Given the description of an element on the screen output the (x, y) to click on. 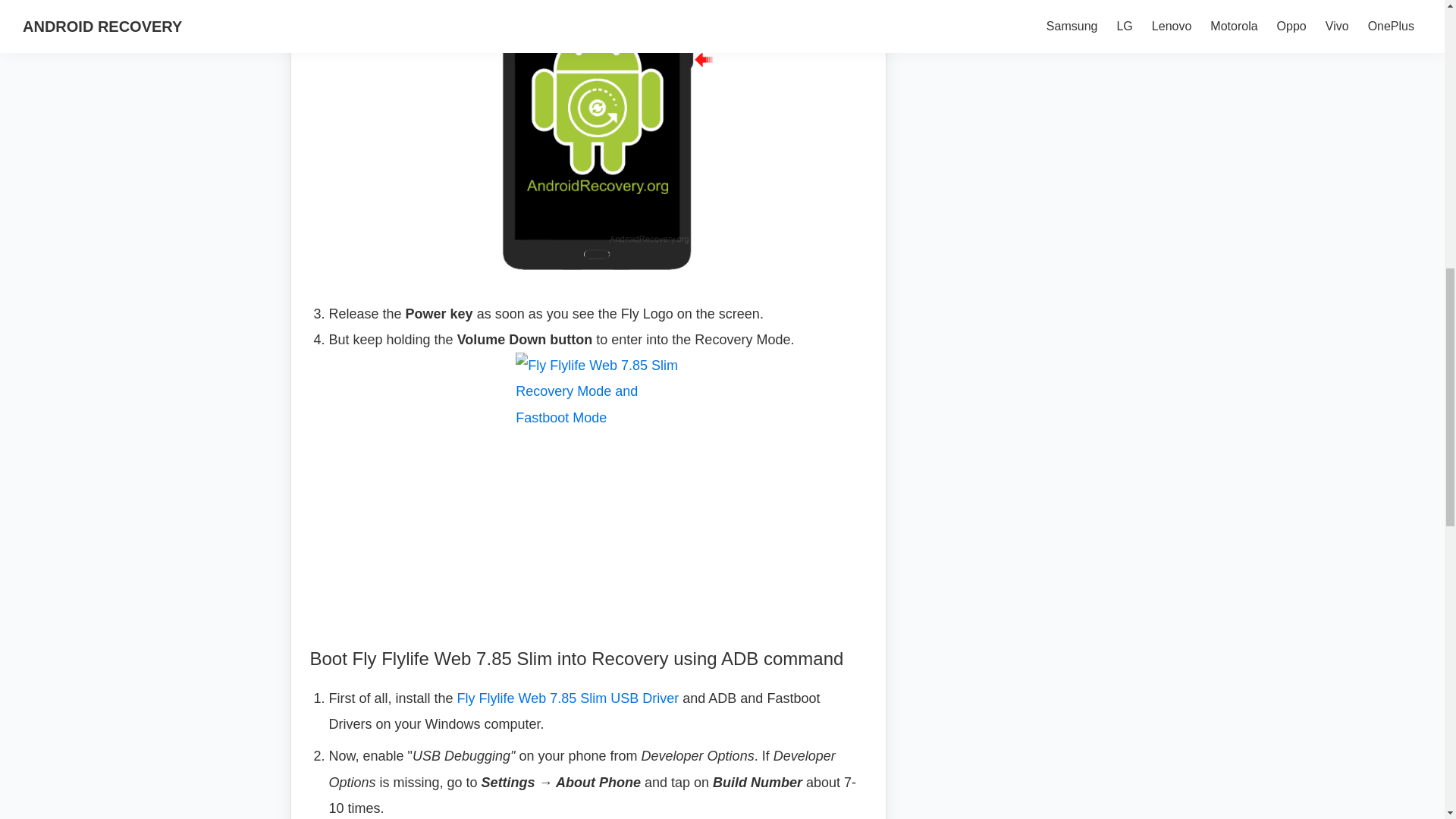
Fly Flylife Web 7.85 Slim USB Driver (568, 698)
Fly Flylife Web 7.85 Slim Recovery Mode and Fastboot Mode (597, 139)
